Given the description of an element on the screen output the (x, y) to click on. 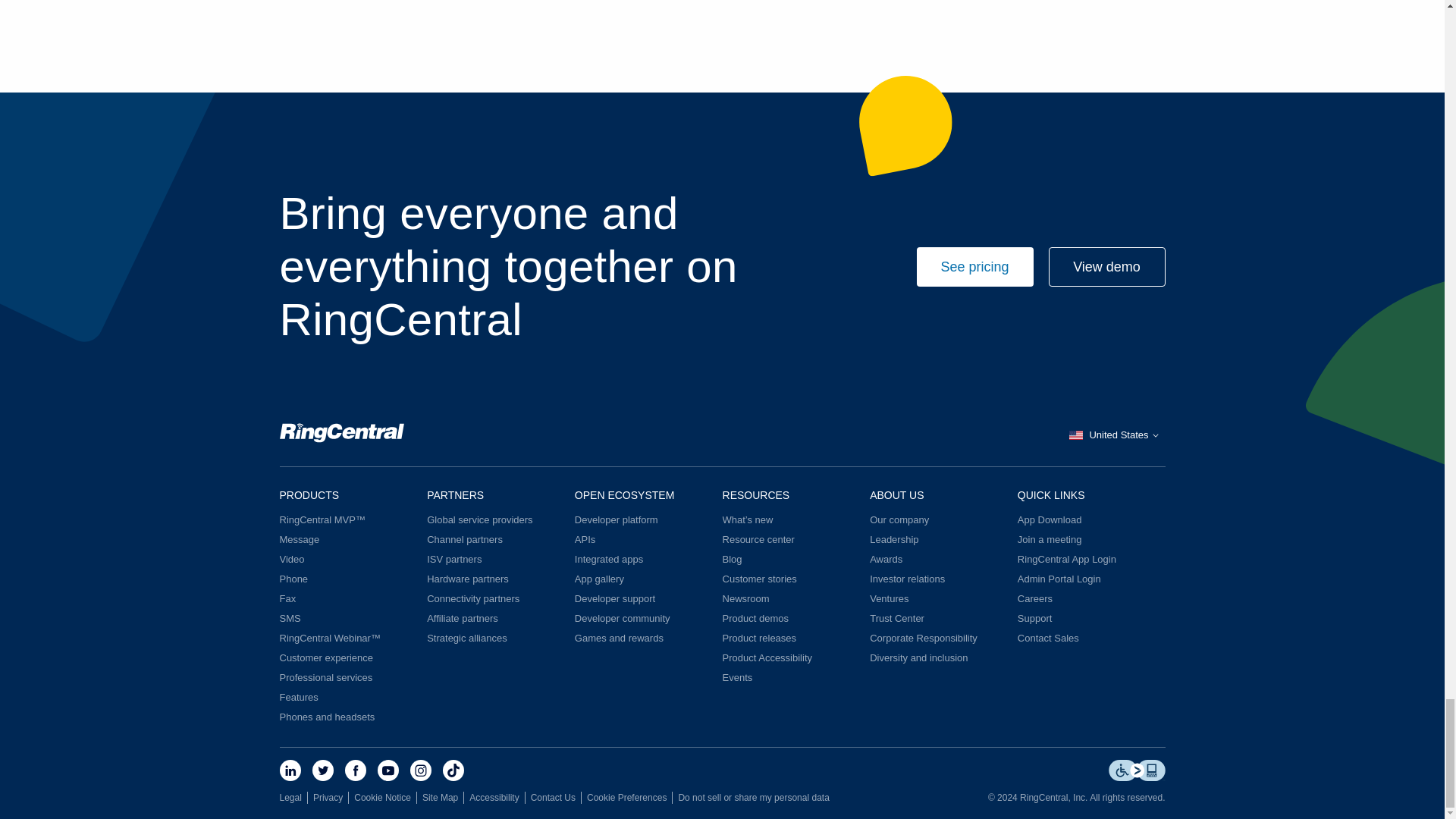
RingCentral Logo (341, 435)
